Given the description of an element on the screen output the (x, y) to click on. 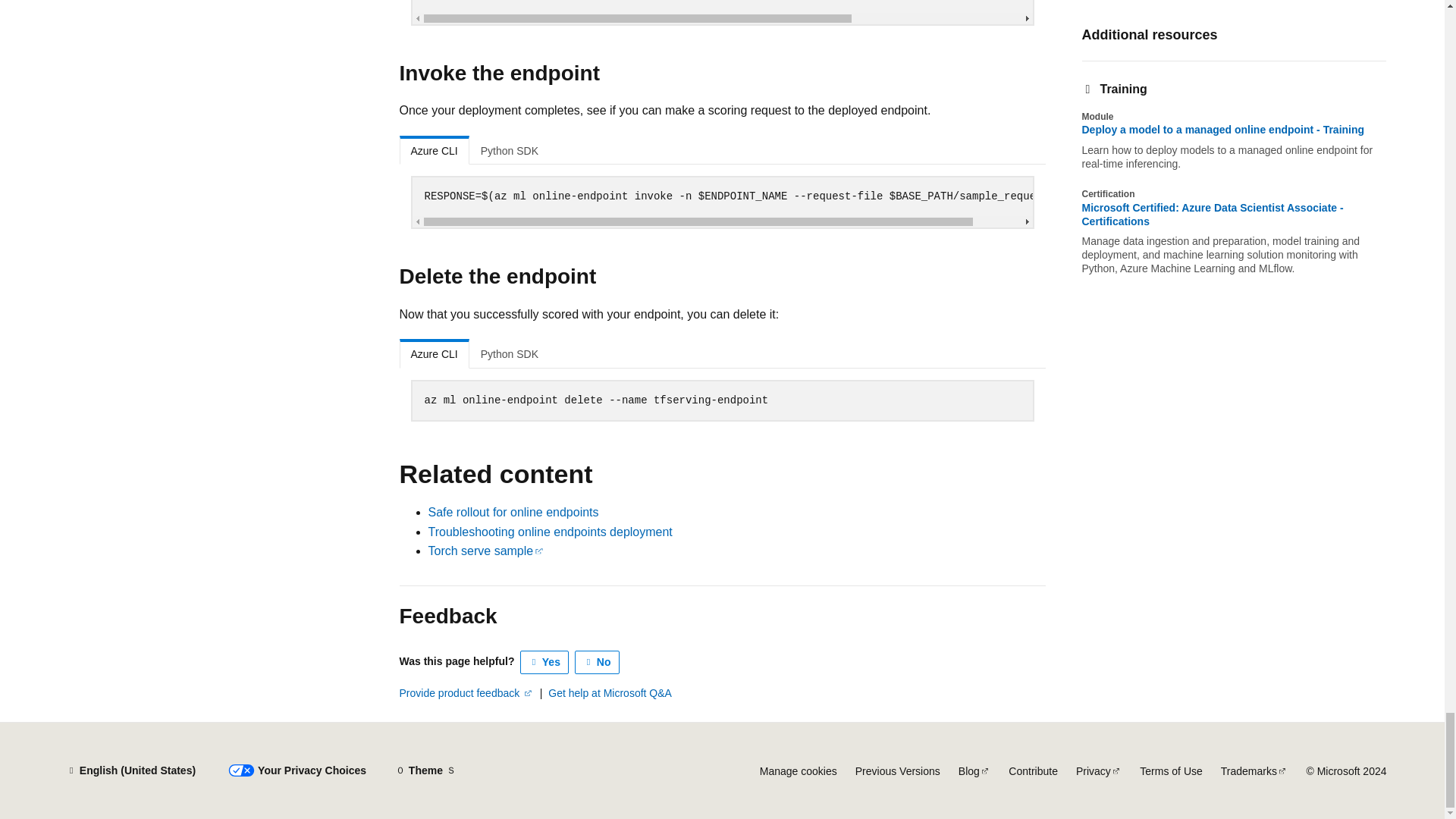
Theme (425, 770)
This article is helpful (544, 662)
This article is not helpful (597, 662)
